Given the description of an element on the screen output the (x, y) to click on. 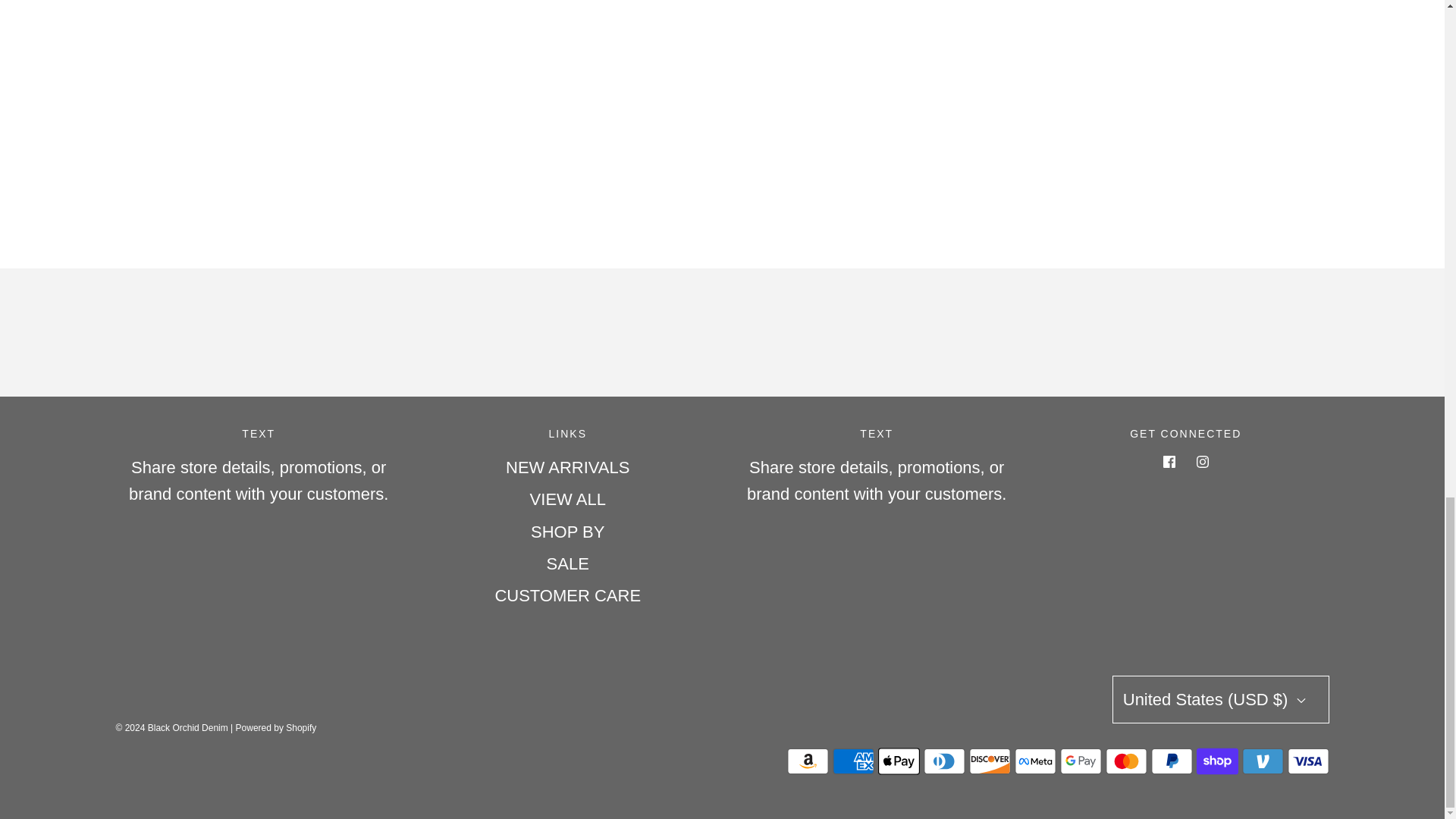
Amazon (807, 761)
Discover (989, 761)
Apple Pay (898, 761)
American Express (853, 761)
Diners Club (944, 761)
Meta Pay (1035, 761)
